Given the description of an element on the screen output the (x, y) to click on. 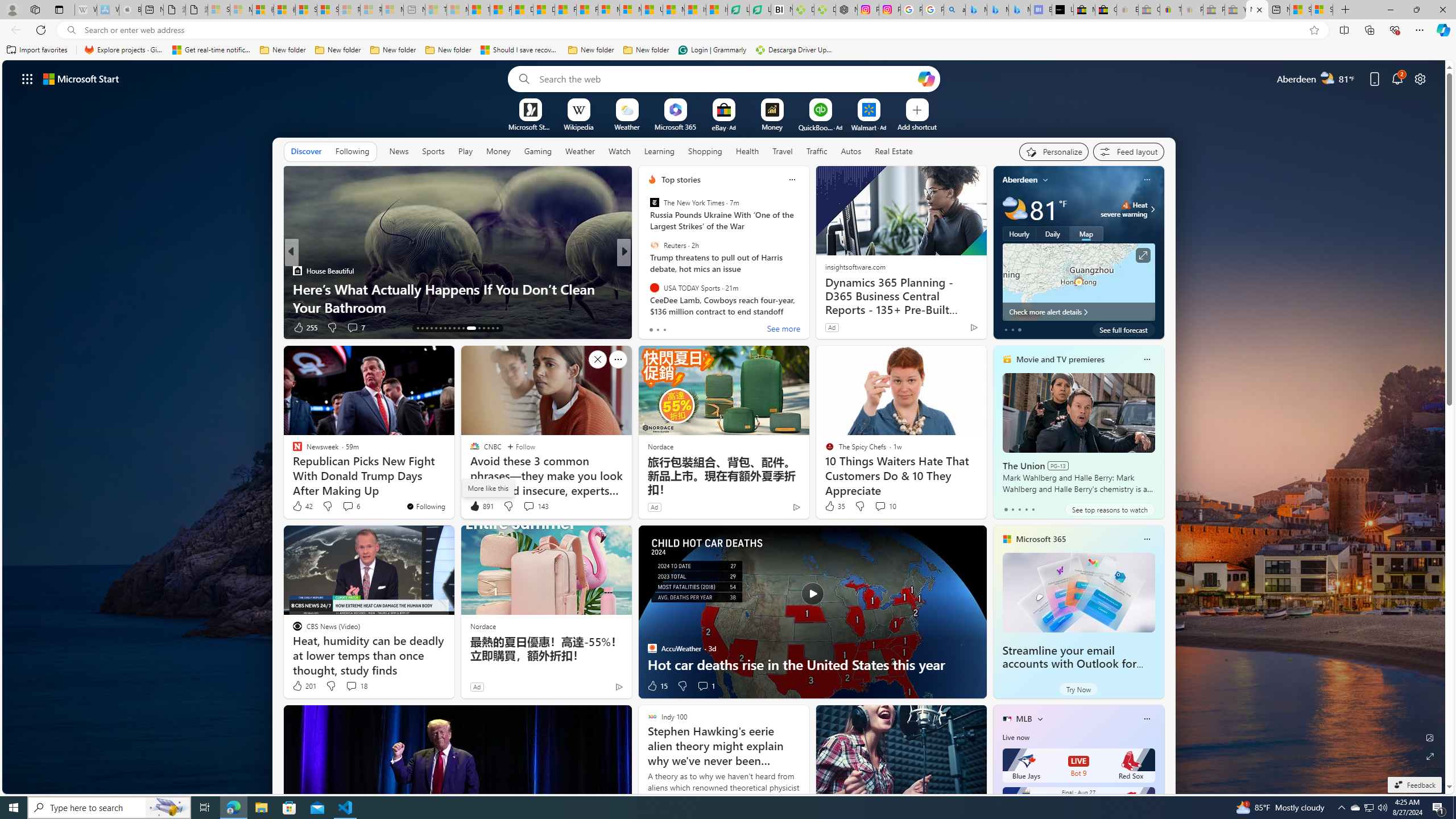
AutomationID: tab-24 (471, 328)
Search icon (70, 29)
tab-3 (1025, 509)
Microsoft Bing Travel - Shangri-La Hotel Bangkok (1019, 9)
201 Like (303, 685)
My location (1045, 179)
Larger map  (1077, 282)
Should I save recovered Word documents? - Microsoft Support (519, 49)
Lifestyle Trends (647, 288)
